Given the description of an element on the screen output the (x, y) to click on. 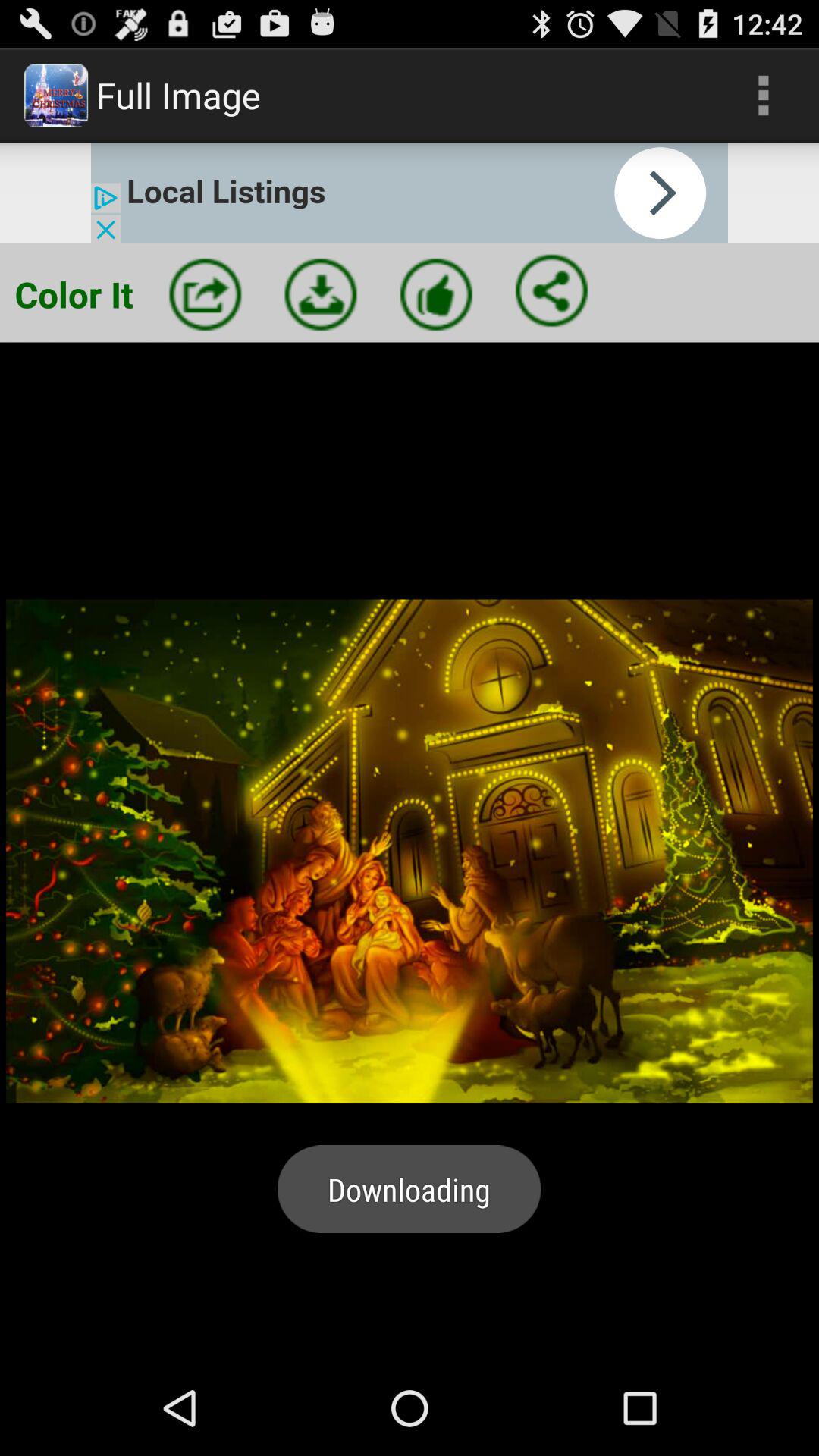
visit advertiser (409, 192)
